Given the description of an element on the screen output the (x, y) to click on. 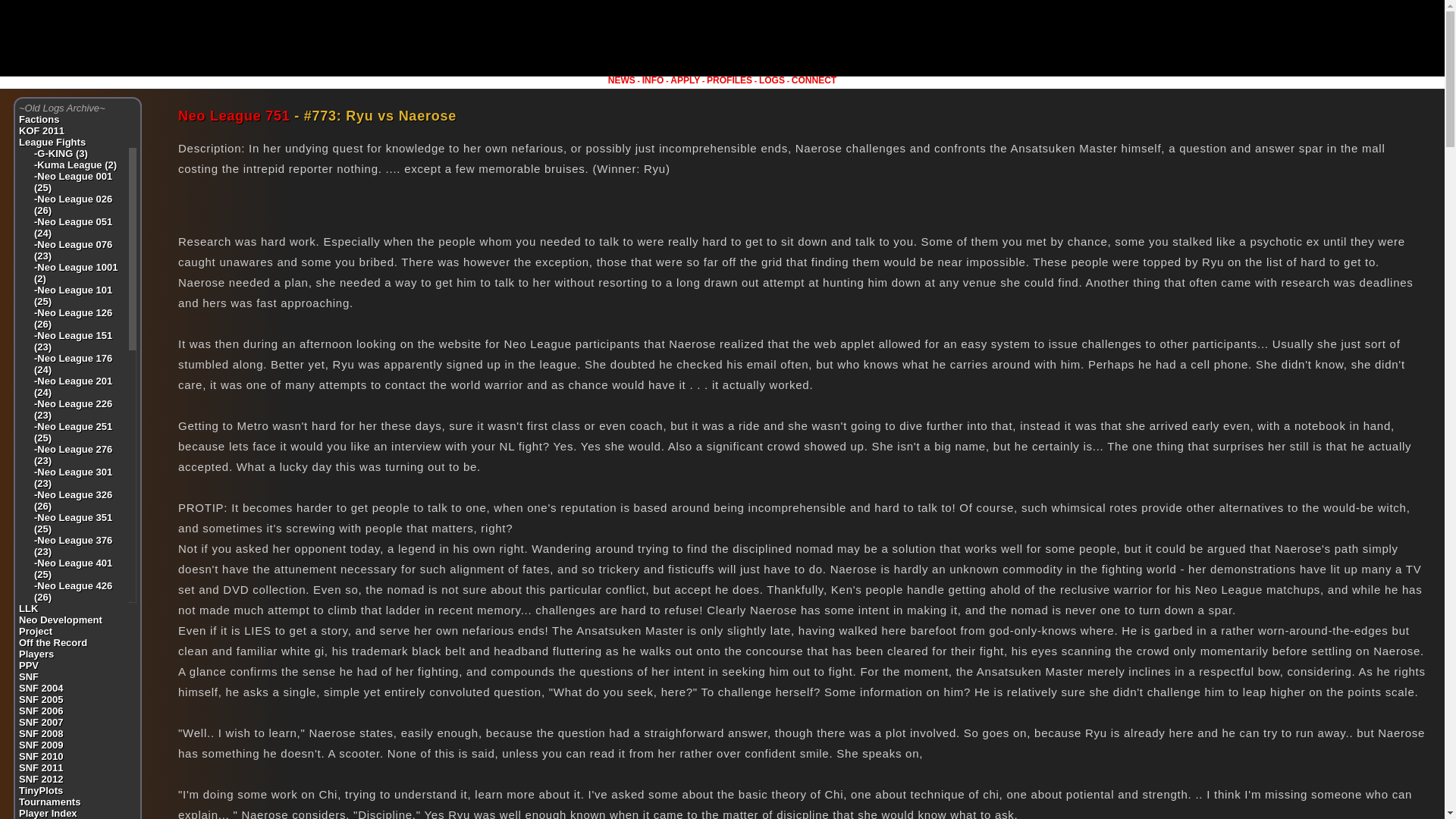
CONNECT (813, 80)
APPLY (684, 80)
NEWS (621, 80)
PROFILES (729, 80)
INFO (652, 80)
LOGS (771, 80)
